Given the description of an element on the screen output the (x, y) to click on. 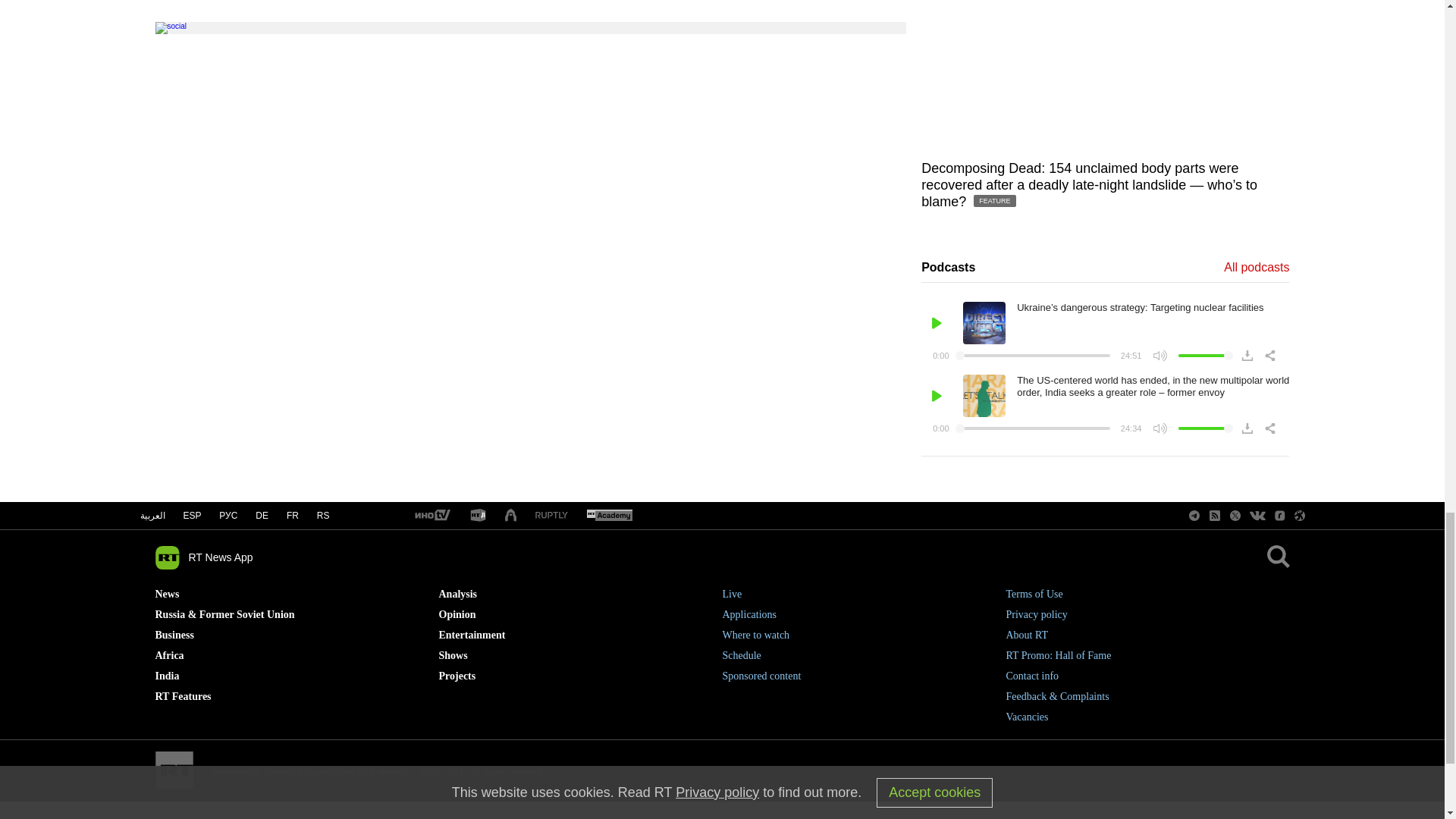
RT  (551, 515)
RT  (608, 515)
RT  (478, 515)
RT  (431, 515)
